Given the description of an element on the screen output the (x, y) to click on. 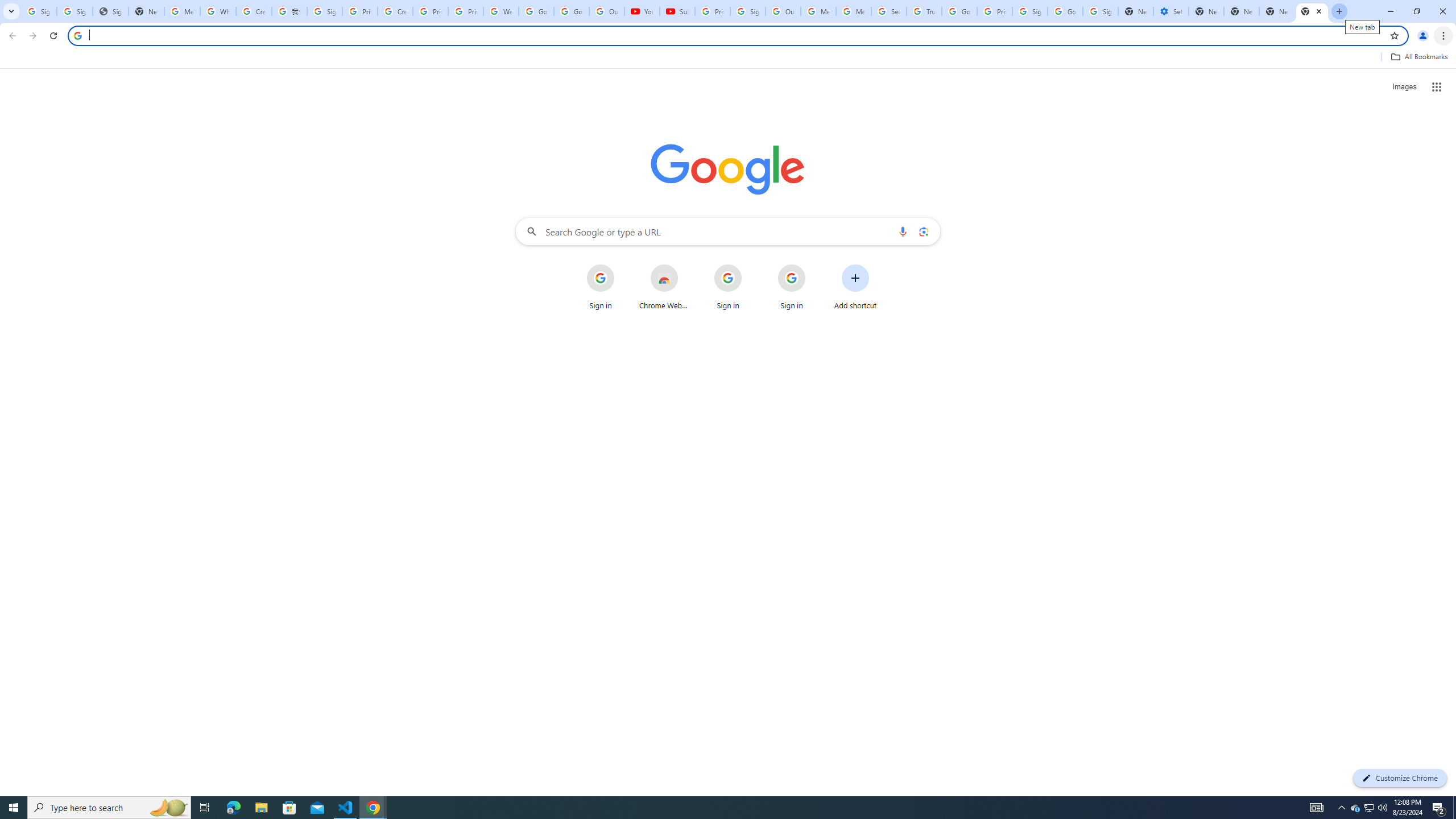
Search Google or type a URL (727, 230)
Sign In - USA TODAY (110, 11)
Search by image (922, 230)
Search our Doodle Library Collection - Google Doodles (888, 11)
Sign in - Google Accounts (1099, 11)
Search by voice (902, 230)
